Given the description of an element on the screen output the (x, y) to click on. 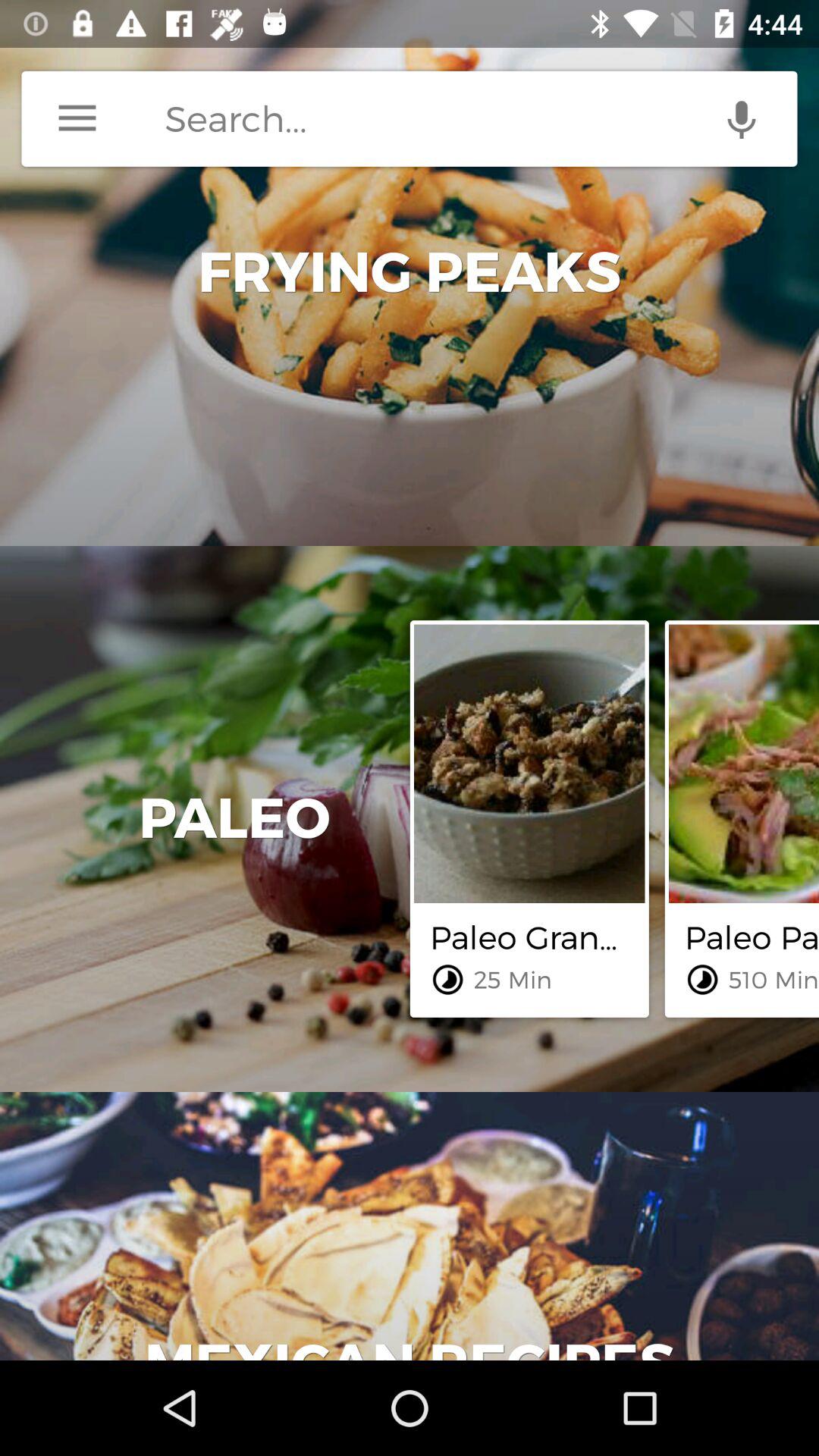
click icon at the top left corner (77, 118)
